Given the description of an element on the screen output the (x, y) to click on. 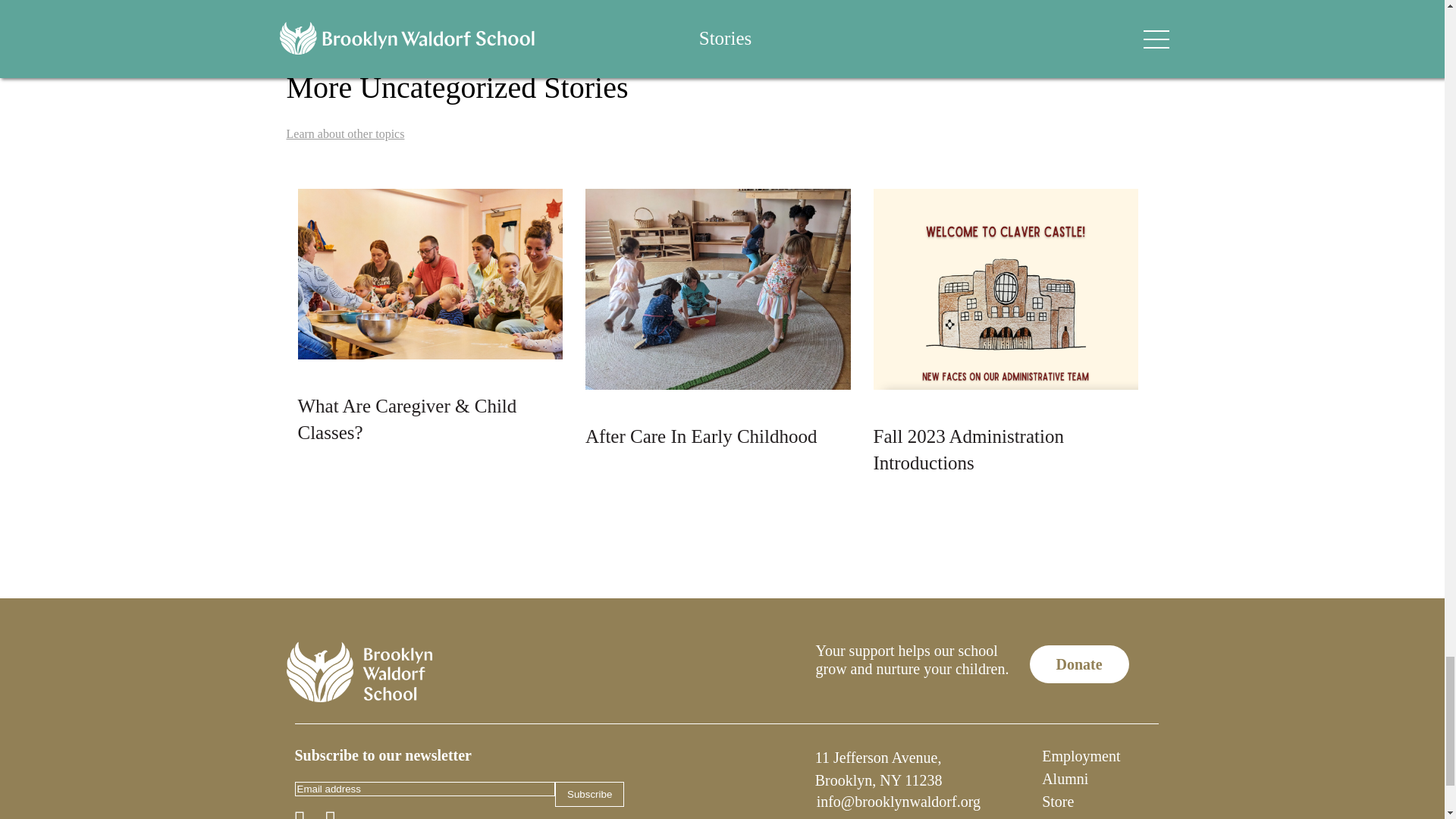
Subscribe (589, 794)
